Given the description of an element on the screen output the (x, y) to click on. 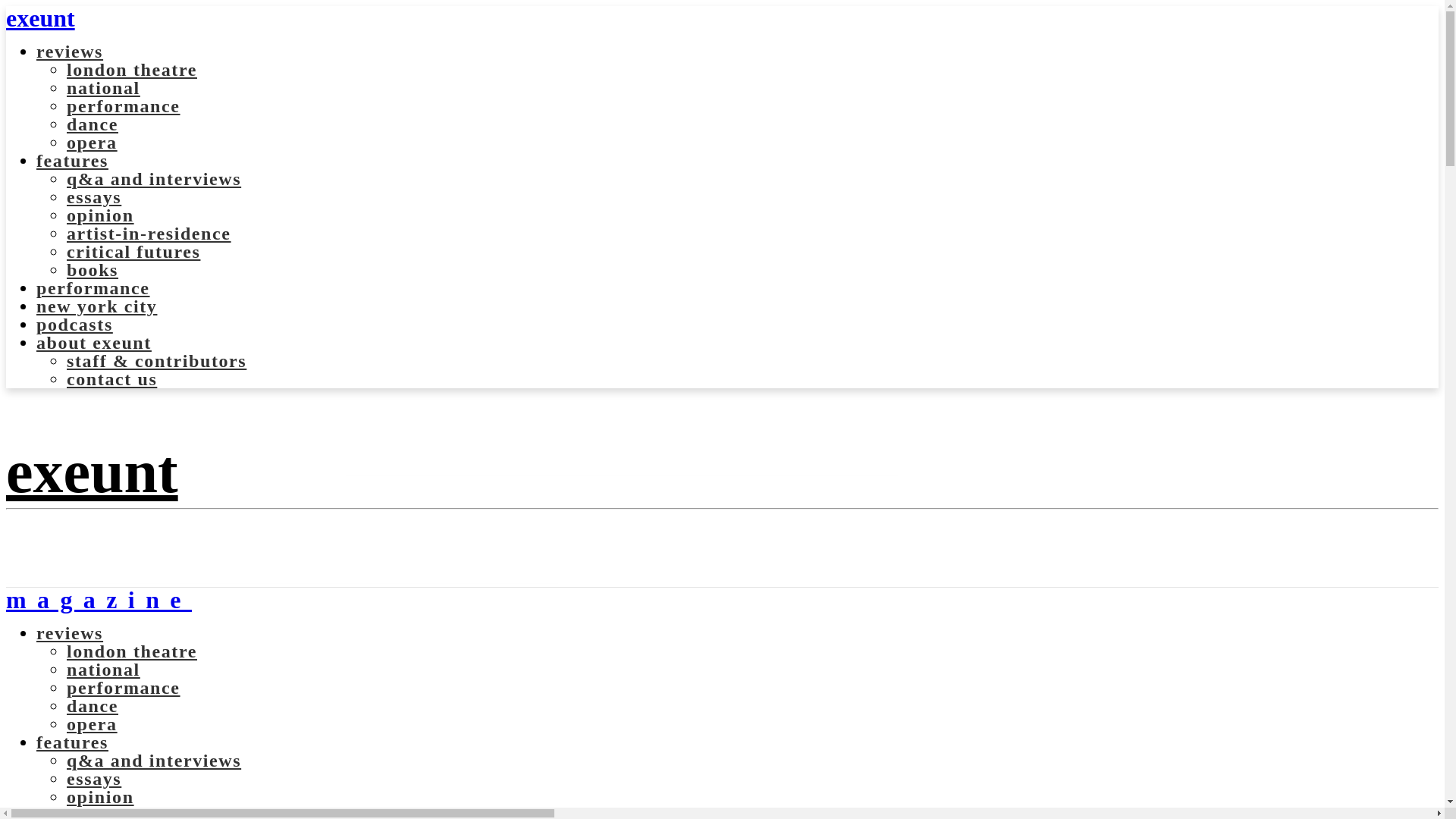
Dance (91, 124)
opinion (99, 215)
National (102, 87)
opinion (99, 796)
dance (91, 124)
opera (91, 723)
essays (93, 197)
books (91, 270)
Performance (123, 106)
Critical Futures (133, 251)
